Given the description of an element on the screen output the (x, y) to click on. 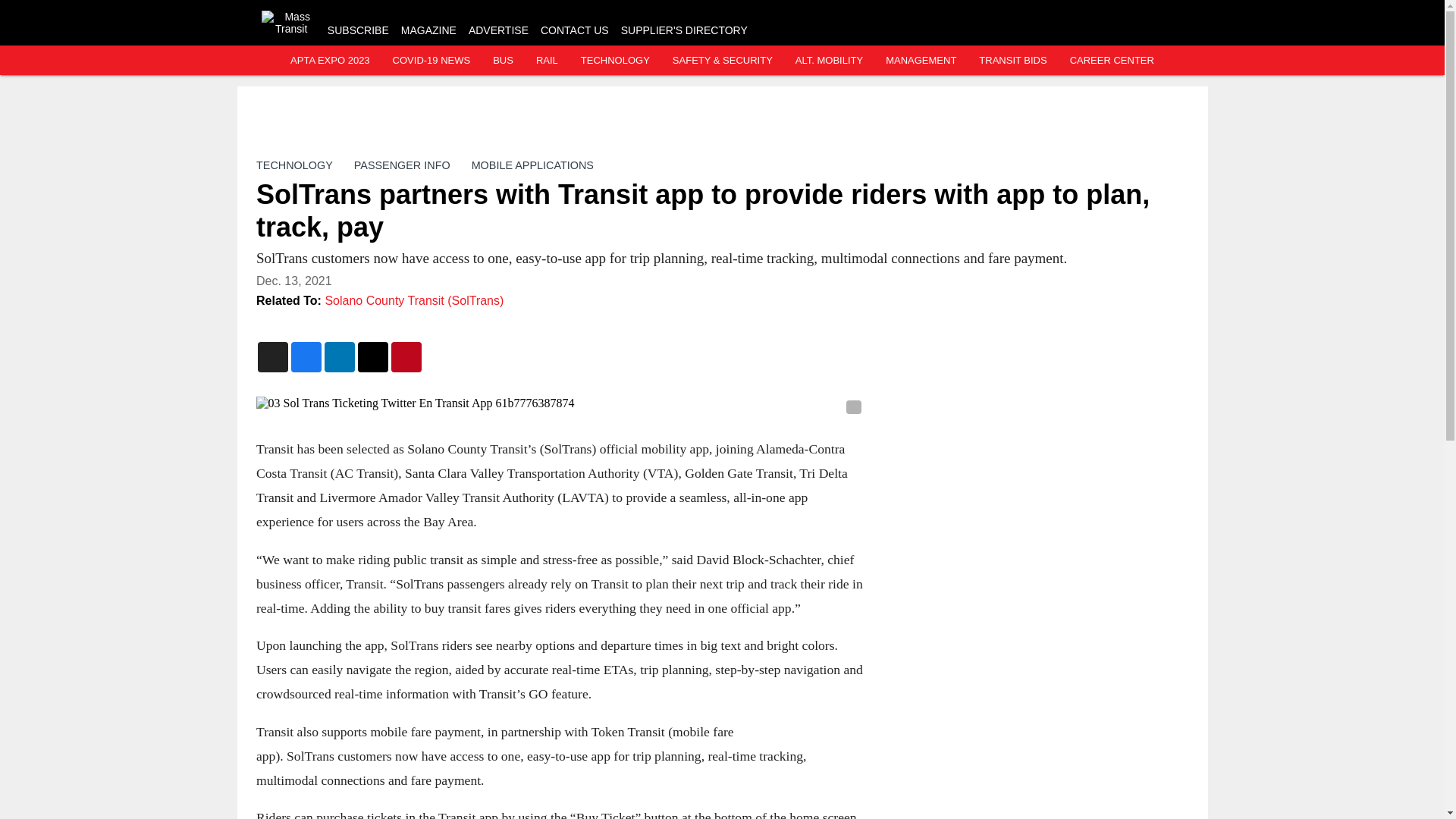
TECHNOLOGY (294, 164)
TRANSIT BIDS (1012, 60)
SUBSCRIBE (357, 30)
TECHNOLOGY (614, 60)
BUS (503, 60)
MANAGEMENT (920, 60)
MOBILE APPLICATIONS (531, 164)
ADVERTISE (498, 30)
MAGAZINE (429, 30)
APTA EXPO 2023 (329, 60)
